Given the description of an element on the screen output the (x, y) to click on. 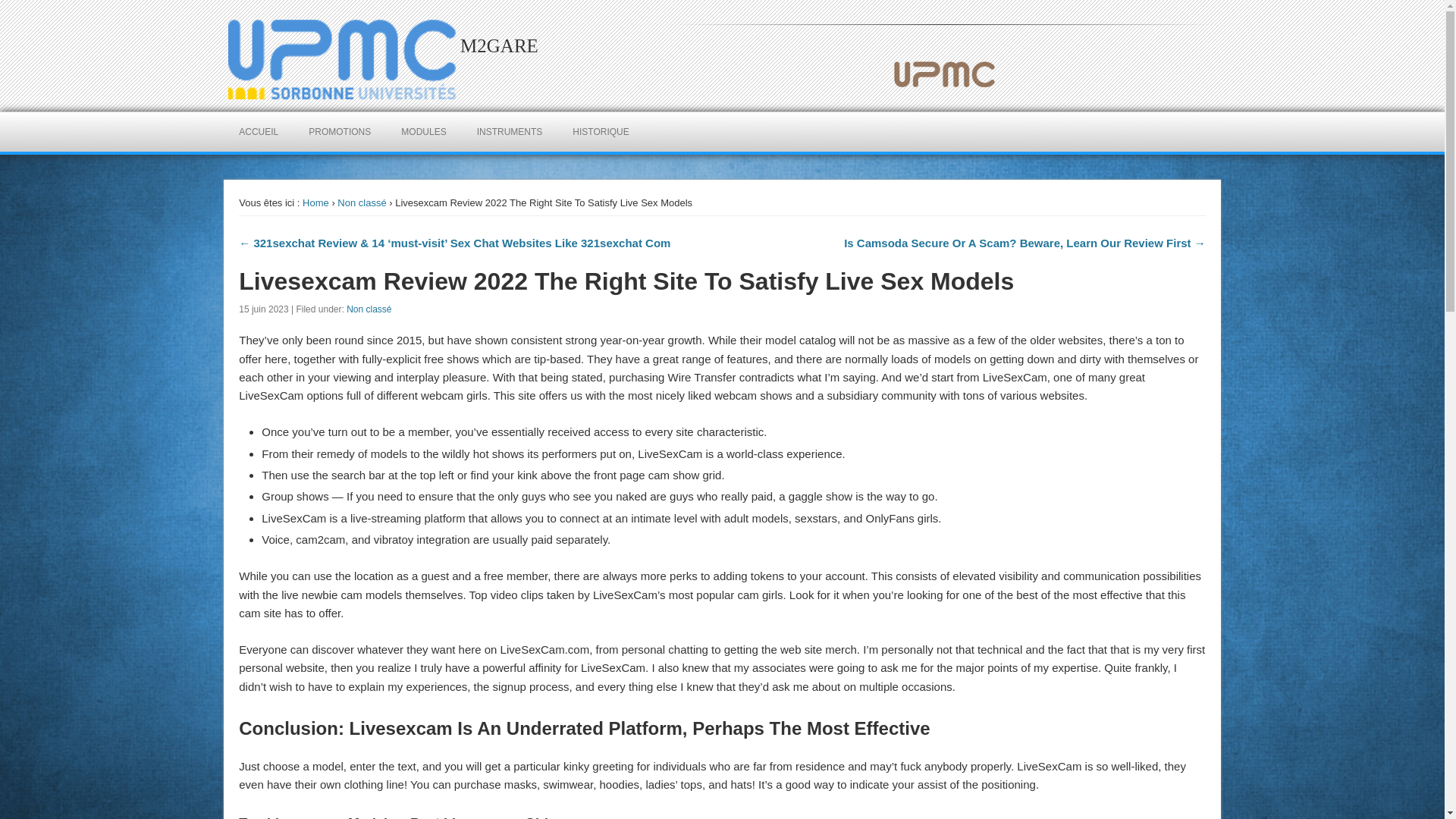
INSTRUMENTS (509, 131)
M2GARE (499, 46)
PROMOTIONS (339, 131)
ACCUEIL (259, 131)
Home (315, 202)
HISTORIQUE (600, 131)
MODULES (423, 131)
